Given the description of an element on the screen output the (x, y) to click on. 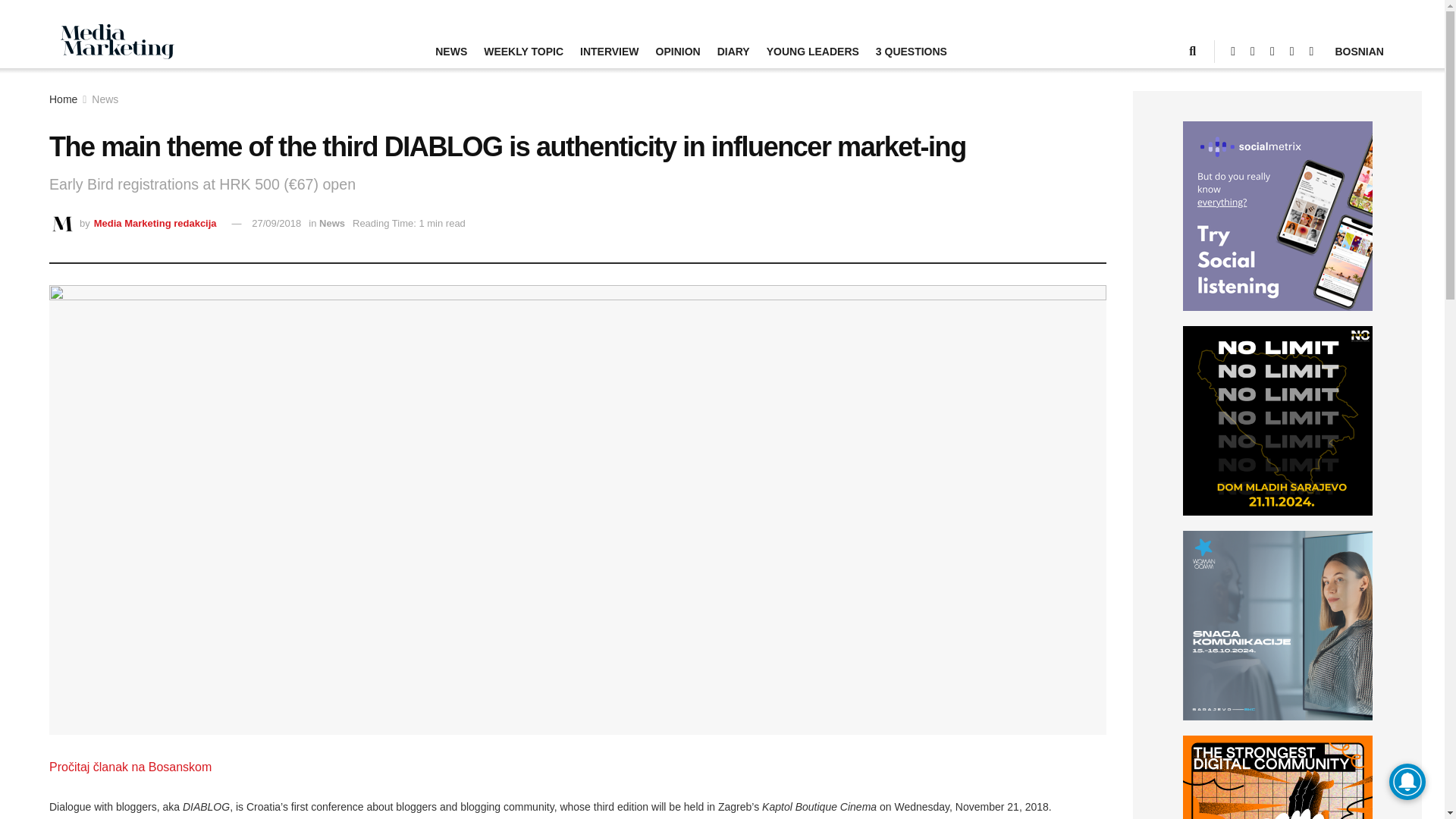
News (104, 99)
3 QUESTIONS (911, 50)
Home (63, 99)
BOSNIAN (1359, 50)
YOUNG LEADERS (813, 50)
INTERVIEW (609, 50)
WEEKLY TOPIC (523, 50)
News (331, 223)
Bosnian (1359, 50)
Media Marketing redakcija (155, 223)
